Given the description of an element on the screen output the (x, y) to click on. 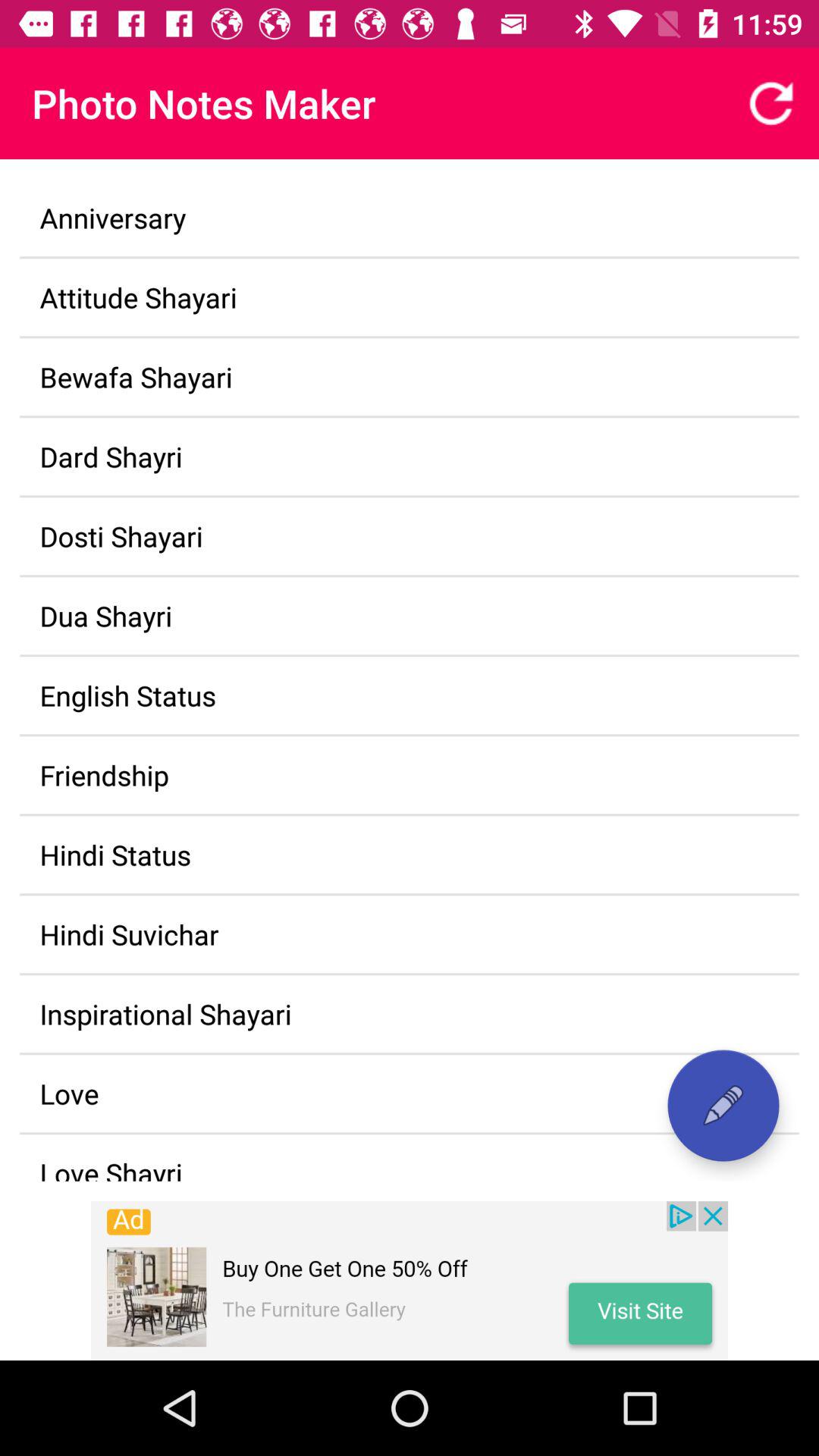
select refresh button at the top right side of the page (771, 103)
